Given the description of an element on the screen output the (x, y) to click on. 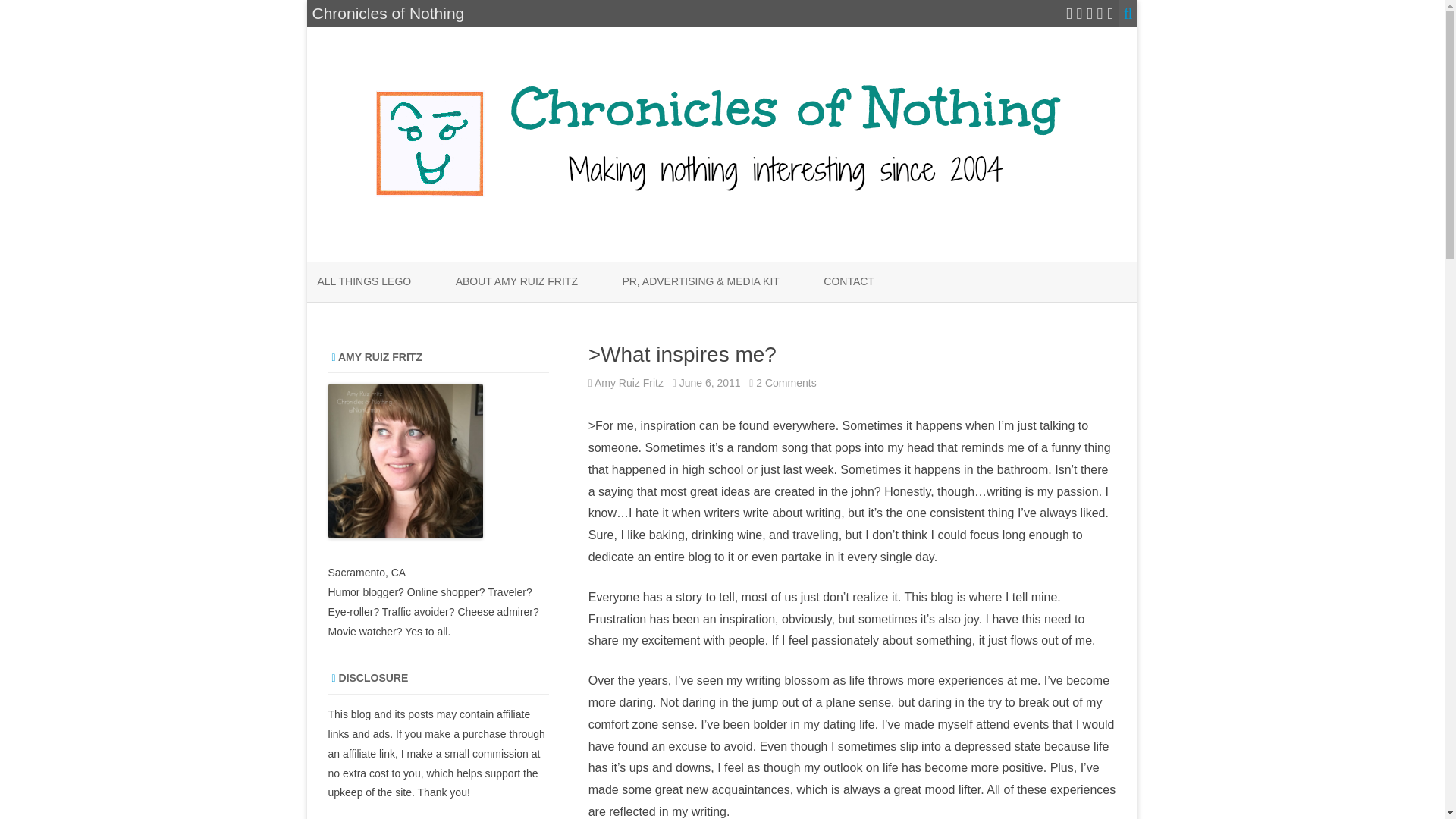
ABOUT AMY RUIZ FRITZ (516, 282)
Twitter (1068, 13)
Amy Ruiz Fritz (628, 382)
RSS (1109, 13)
Instagram (1089, 13)
CONTACT (849, 282)
ALL THINGS LEGO (363, 282)
Facebook (1080, 13)
Pinterest (1100, 13)
